Given the description of an element on the screen output the (x, y) to click on. 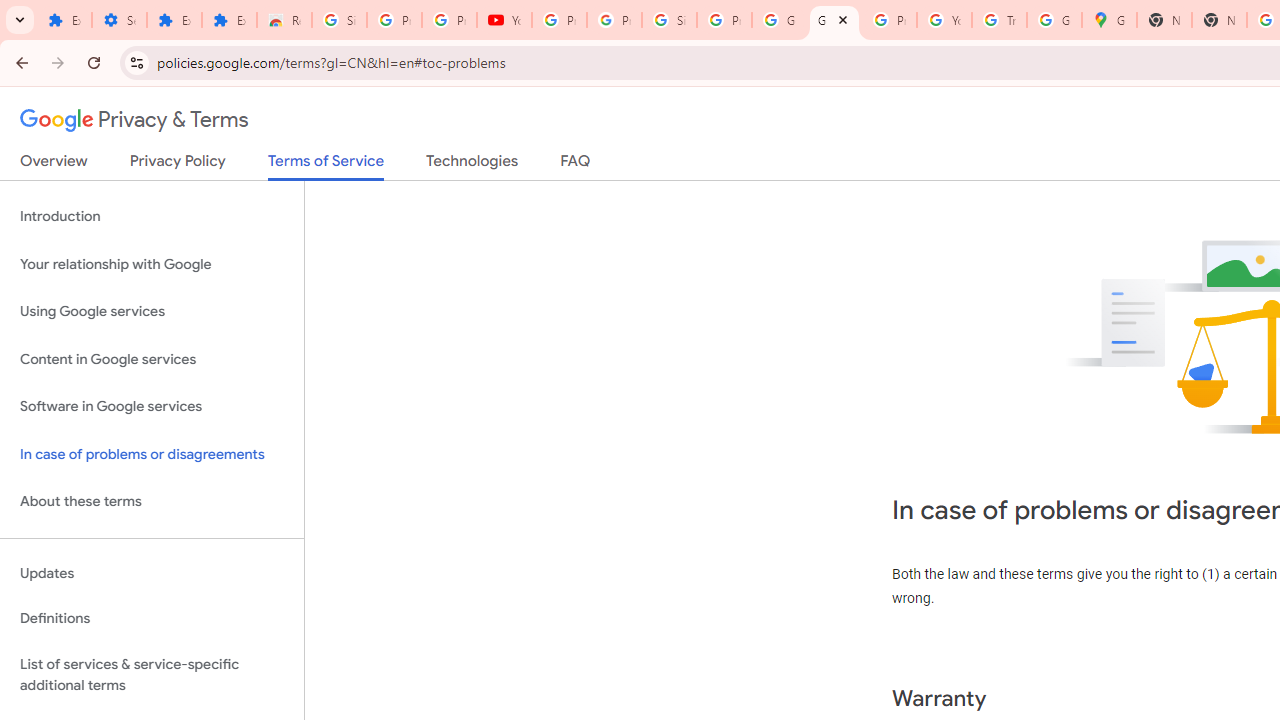
Extensions (174, 20)
About these terms (152, 502)
